Given the description of an element on the screen output the (x, y) to click on. 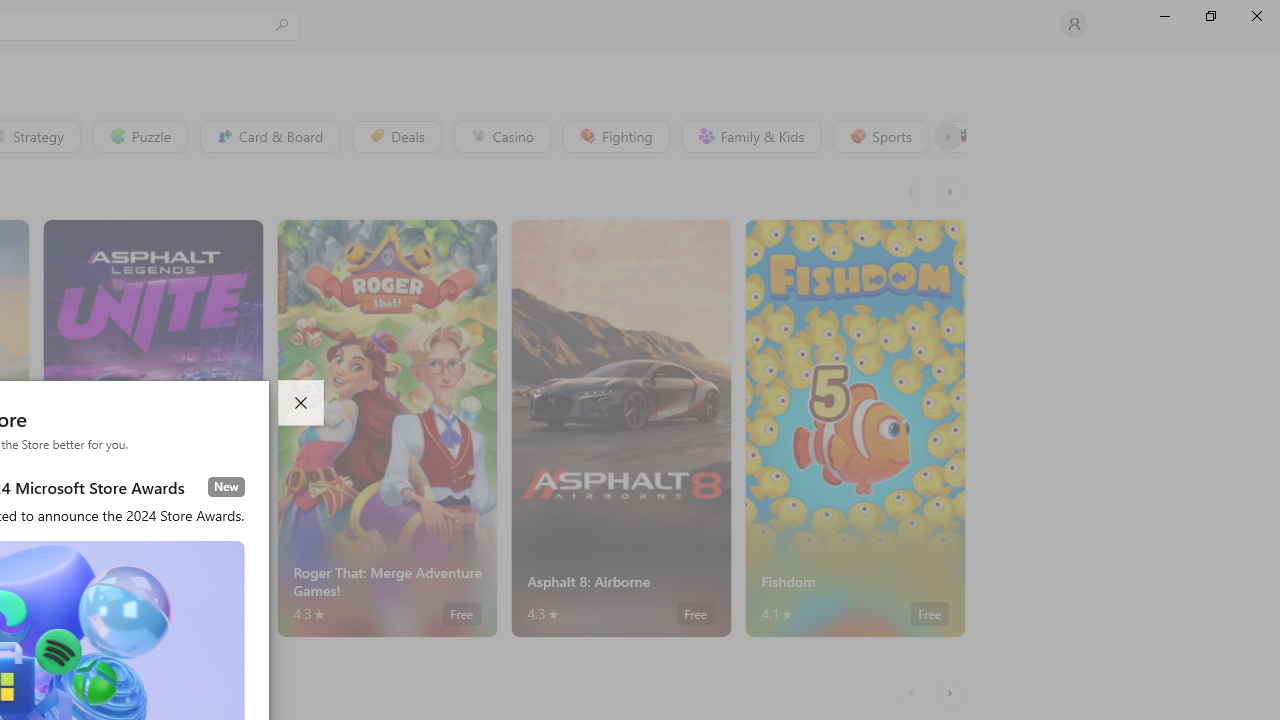
Casino (501, 136)
Fighting (614, 136)
Fishdom. Average rating of 4.1 out of five stars. Free   (854, 427)
Close dialog (300, 403)
Family & Kids (750, 136)
AutomationID: LeftScrollButton (913, 692)
AutomationID: RightScrollButton (952, 692)
Deals (395, 136)
Puzzle (139, 136)
Card & Board (268, 136)
Class: Button (947, 136)
